Given the description of an element on the screen output the (x, y) to click on. 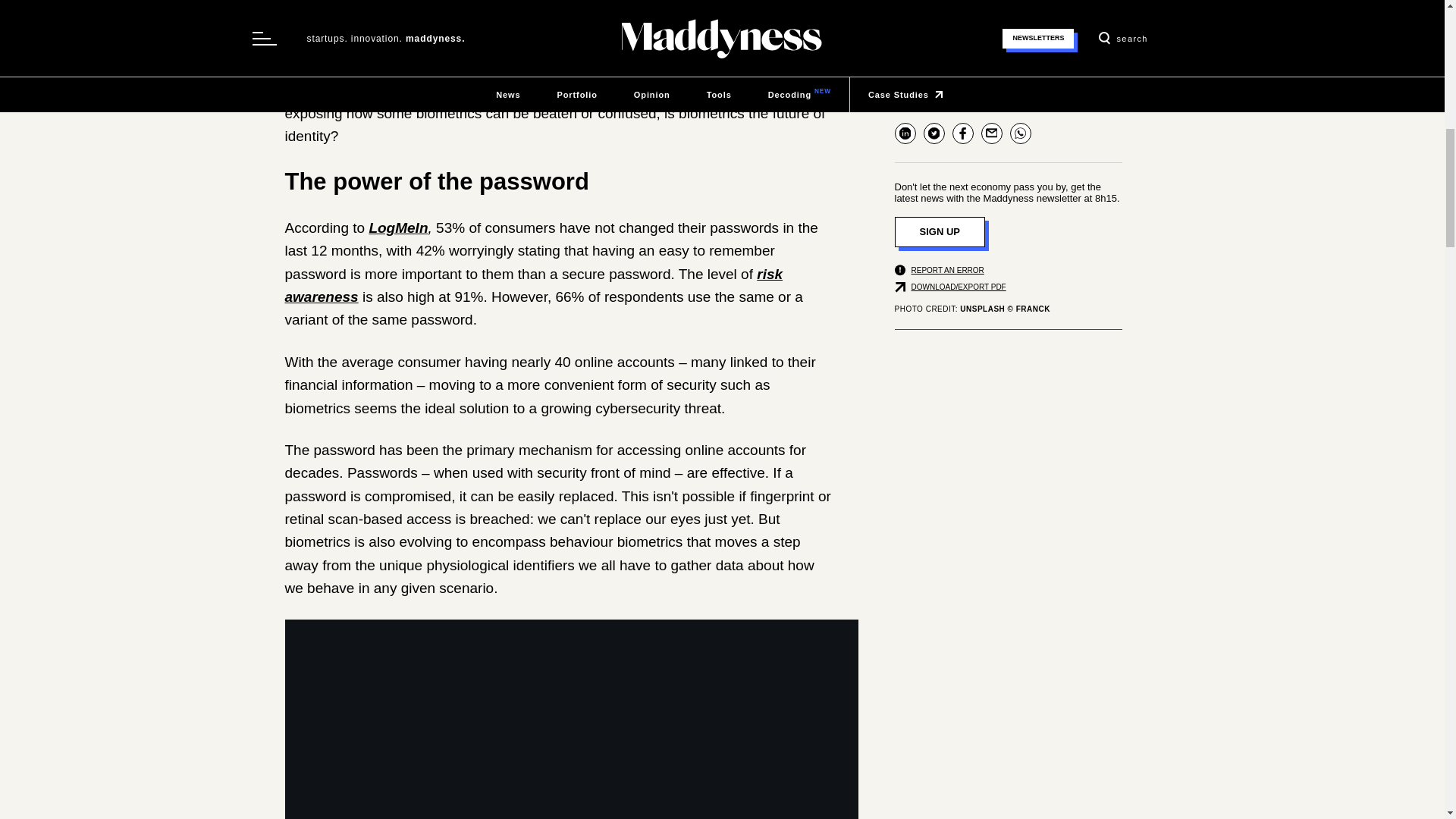
LogMeIn (398, 227)
